Given the description of an element on the screen output the (x, y) to click on. 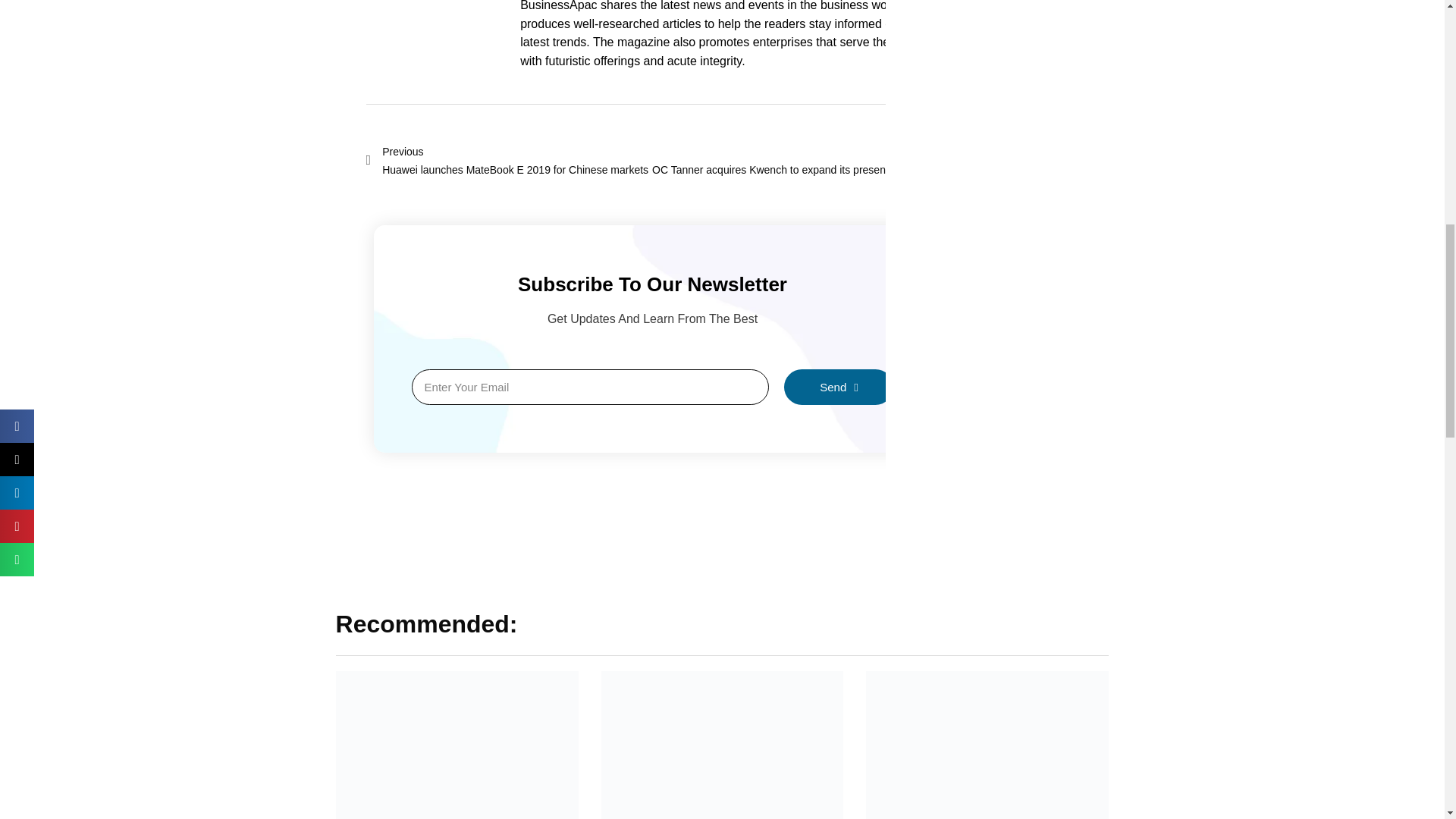
Send (838, 386)
